Given the description of an element on the screen output the (x, y) to click on. 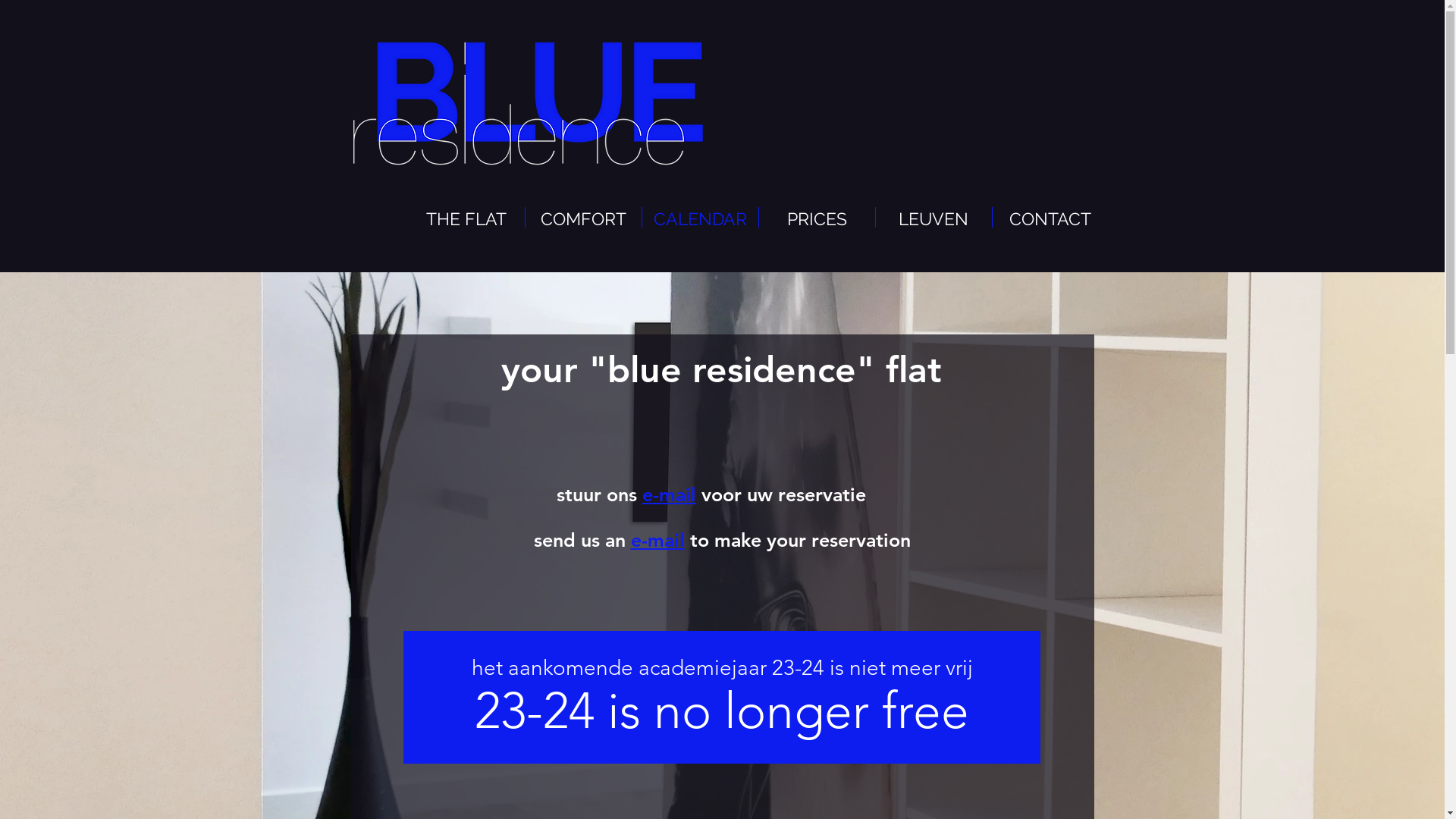
CONTACT Element type: text (1049, 217)
e-mail Element type: text (669, 494)
CALENDAR Element type: text (699, 217)
PRICES Element type: text (816, 217)
e-mail Element type: text (657, 539)
LEUVEN Element type: text (933, 217)
THE FLAT Element type: text (465, 217)
COMFORT Element type: text (582, 217)
